Given the description of an element on the screen output the (x, y) to click on. 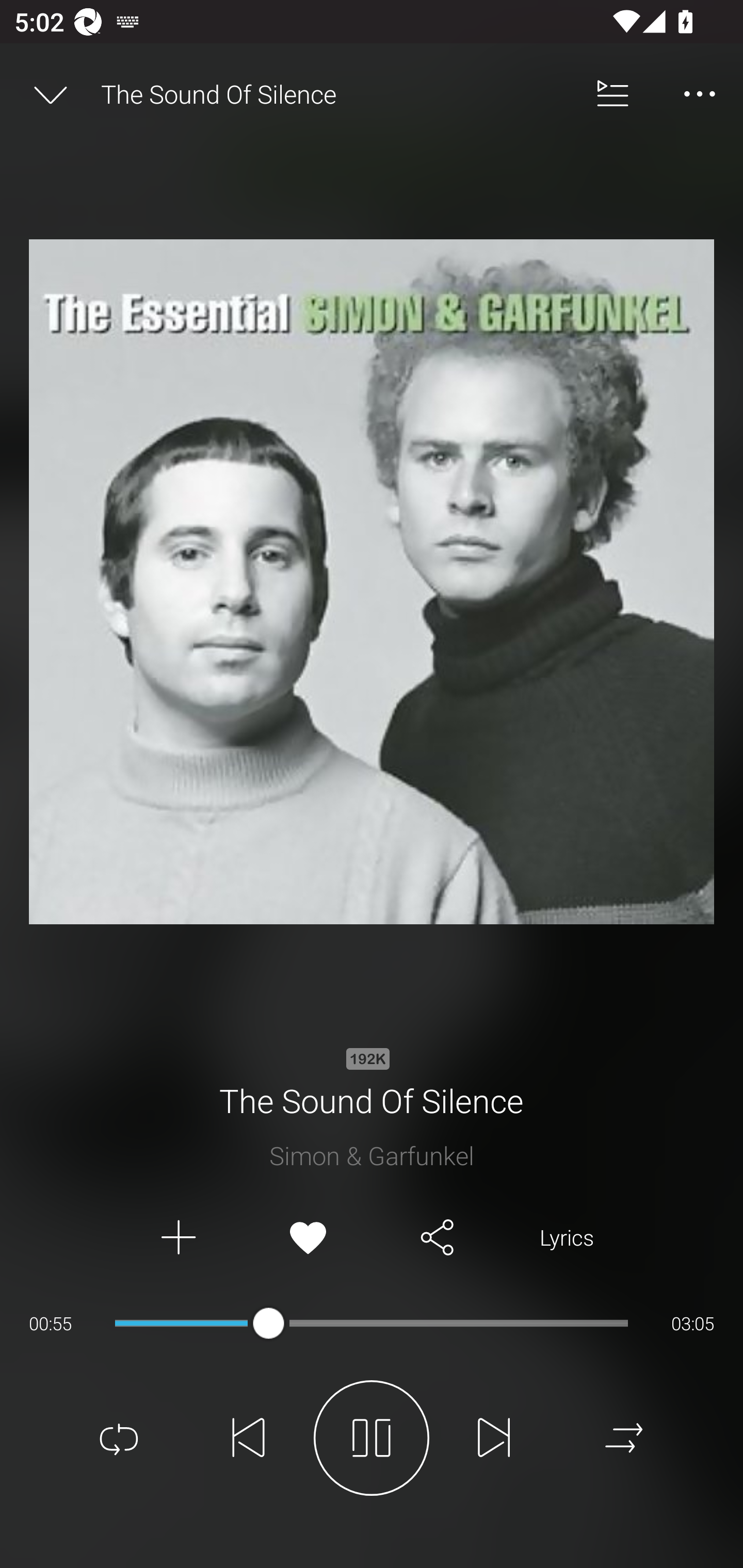
縮小播放介面 (50, 93)
現正播放清單 (612, 93)
更多操作選項 (699, 93)
The Sound Of Silence (335, 93)
Simon & Garfunkel (371, 1155)
加入到新歌單 (177, 1237)
加入收藏, 已加入 (307, 1237)
Lyrics (566, 1237)
暫停播放 (371, 1437)
不重複播放 (118, 1438)
播放前一首 (248, 1438)
播放下一首 (494, 1438)
循序播放 (624, 1438)
